Given the description of an element on the screen output the (x, y) to click on. 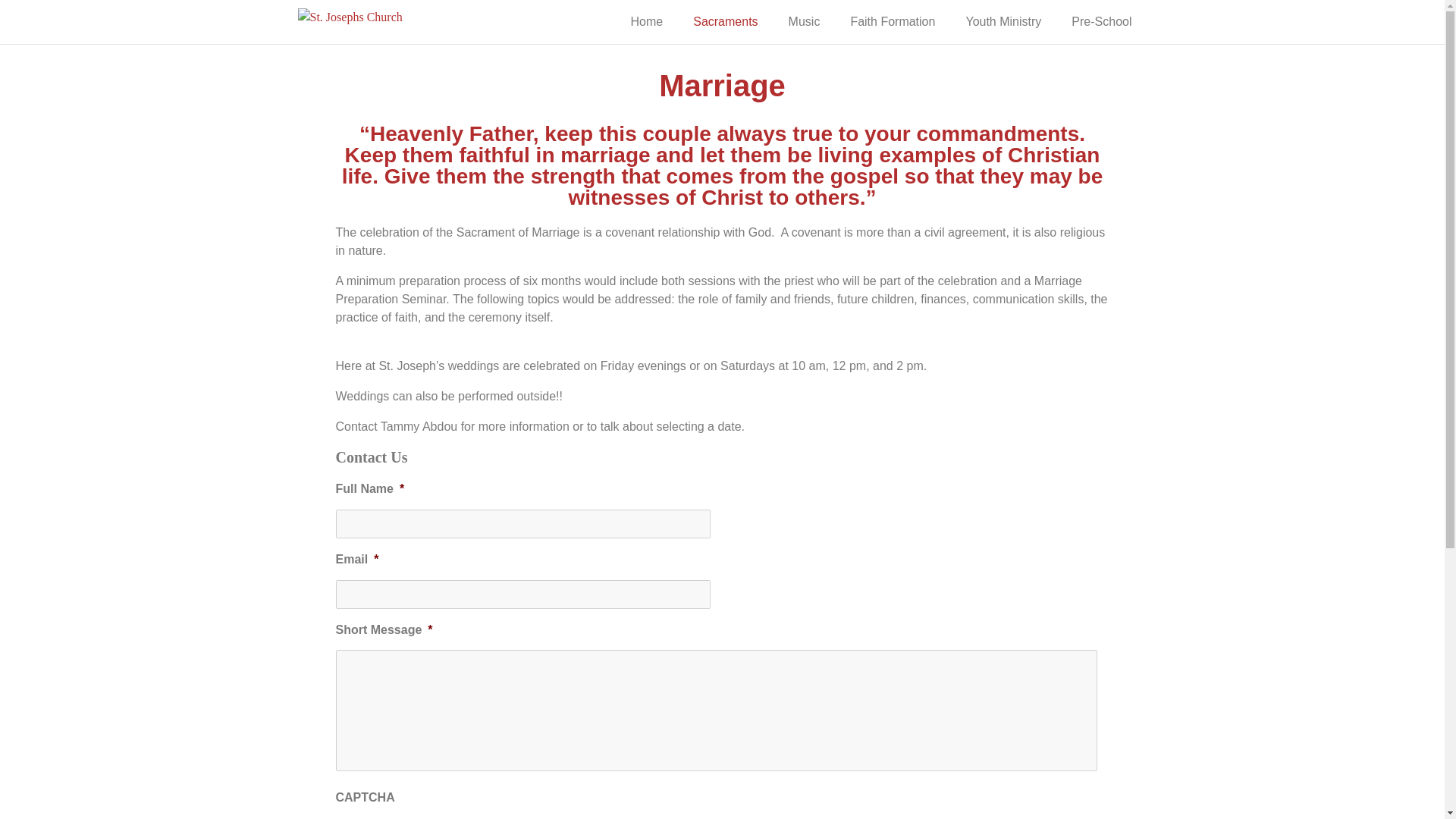
Youth Ministry (1003, 21)
Home (646, 21)
Faith Formation (892, 21)
Sacraments (725, 21)
Music (804, 21)
Pre-School (1102, 21)
Sacraments (725, 21)
Home (646, 21)
